Given the description of an element on the screen output the (x, y) to click on. 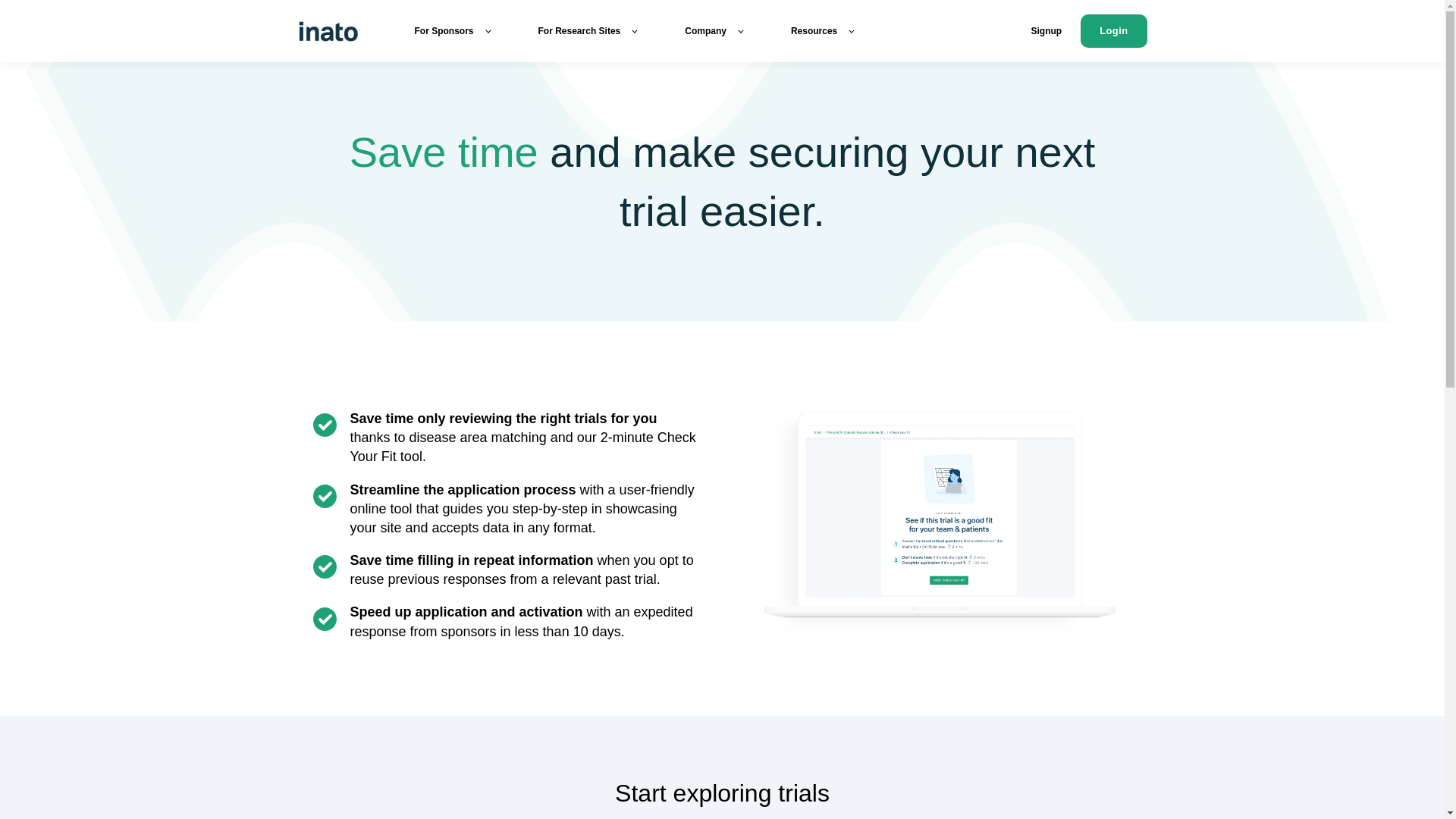
Login (1113, 30)
Company (713, 30)
Resources (821, 30)
Check Your Fit Laptop (940, 515)
For Research Sites (587, 30)
Signup (1046, 30)
For Sponsors (451, 30)
